Given the description of an element on the screen output the (x, y) to click on. 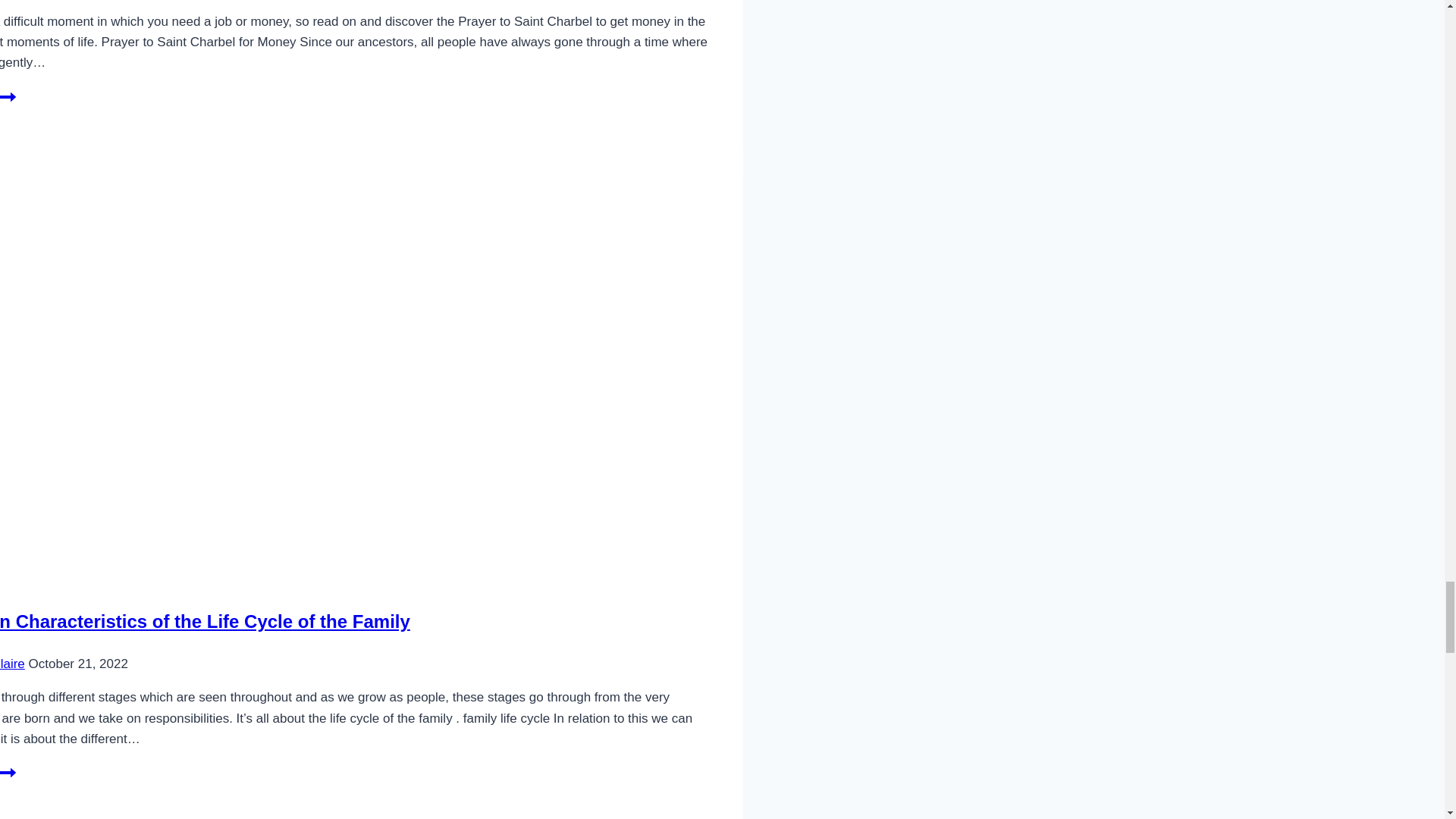
Common Characteristics of the Life Cycle of the Family (8, 103)
Kelly D Claire (205, 620)
